Given the description of an element on the screen output the (x, y) to click on. 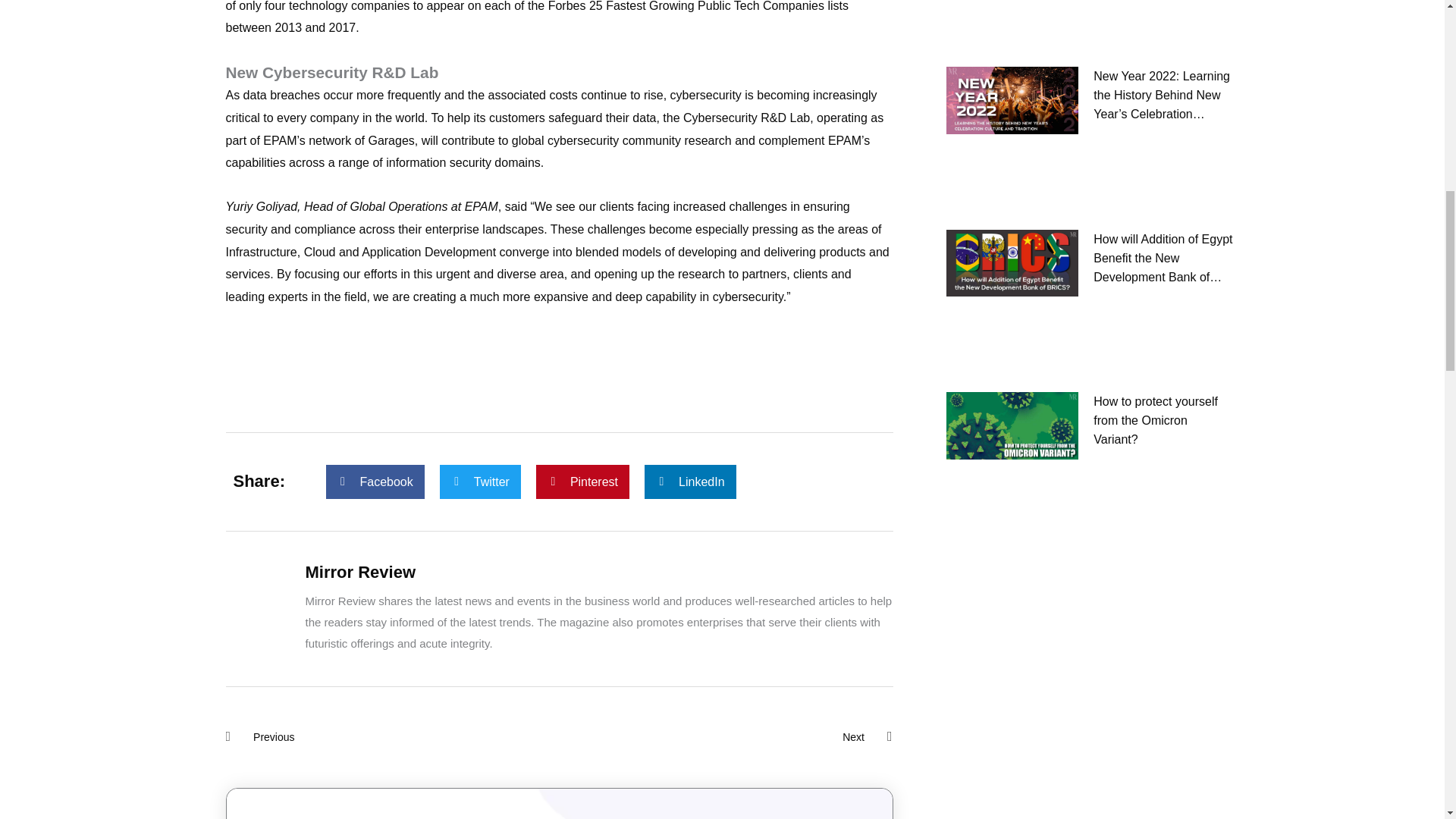
How to protect yourself from the Omicron Variant? (1163, 108)
